Given the description of an element on the screen output the (x, y) to click on. 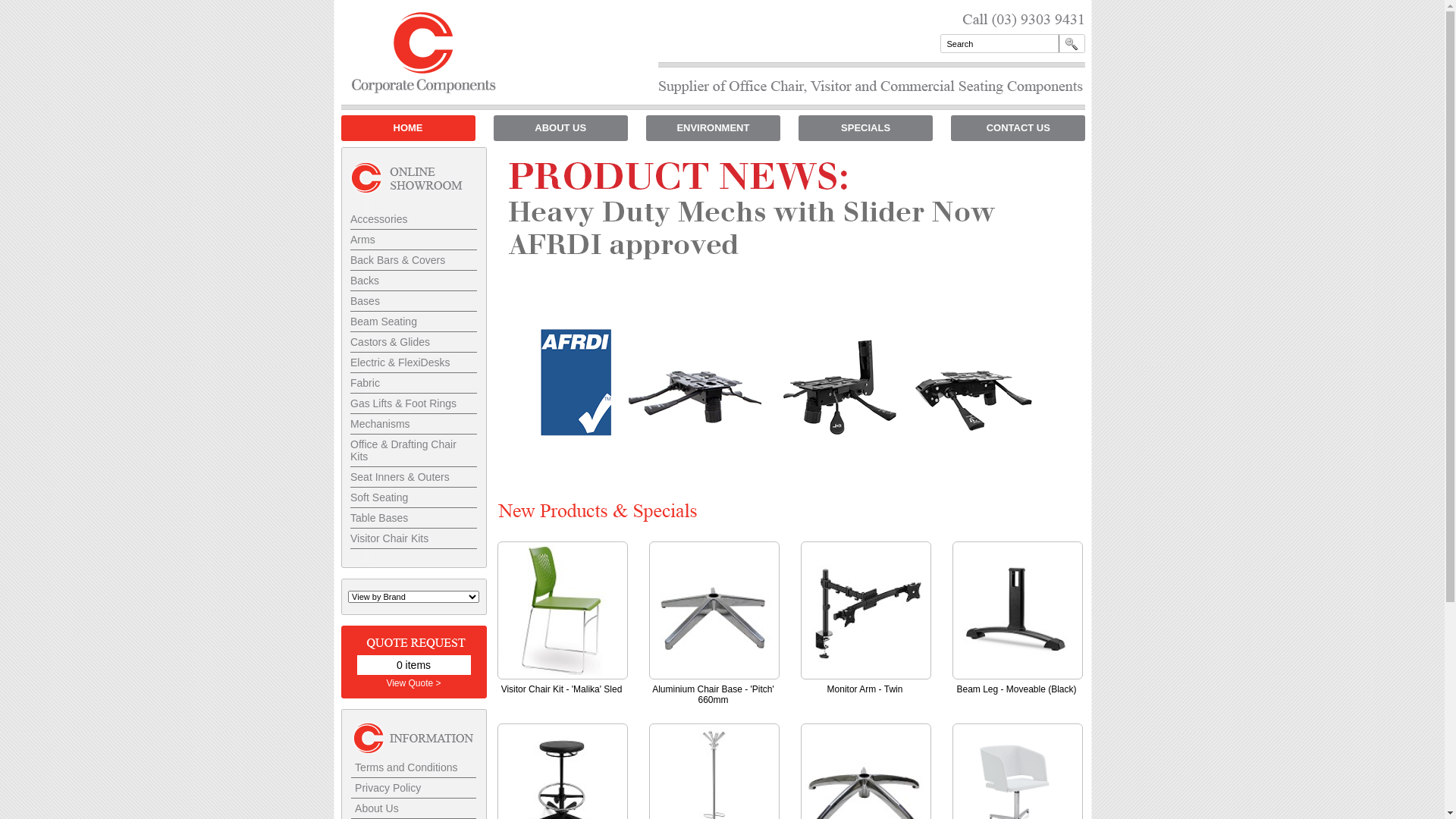
Aluminium Chair Base - 'Pitch' 660mm Element type: text (713, 694)
Monitor Arm - Twin Element type: text (865, 689)
Back Bars & Covers Element type: text (413, 260)
CONTACT US Element type: text (1017, 128)
SPECIALS Element type: text (865, 128)
Fabric Element type: text (413, 383)
Soft Seating Element type: text (413, 497)
Visitor Chair Kits Element type: text (413, 538)
Beam Seating Element type: text (413, 321)
Backs Element type: text (413, 280)
 Aluminium Chair Base - 'Pitch' 660mm  Element type: hover (713, 610)
Arms Element type: text (413, 239)
Electric & FlexiDesks Element type: text (413, 362)
 Beam Leg - Moveable (Black)  Element type: hover (1016, 610)
View Quote > Element type: text (412, 682)
Visitor Chair Kit - 'Malika' Sled Element type: text (561, 689)
Office & Drafting Chair Kits Element type: text (413, 450)
ENVIRONMENT Element type: text (713, 128)
Terms and Conditions Element type: text (413, 767)
 Monitor Arm - Twin  Element type: hover (864, 610)
Privacy Policy Element type: text (413, 788)
Table Bases Element type: text (413, 518)
ABOUT US Element type: text (560, 128)
Bases Element type: text (413, 301)
Accessories Element type: text (413, 219)
HEAVY DUTY MECHS NOW AFRDI APPROVED Element type: hover (781, 317)
Castors & Glides Element type: text (413, 342)
Beam Leg - Moveable (Black) Element type: text (1016, 689)
Gas Lifts & Foot Rings Element type: text (413, 403)
Seat Inners & Outers Element type: text (413, 477)
HOME Element type: text (408, 128)
Mechanisms Element type: text (413, 424)
 Visitor Chair Kit - 'Malika' Sled  Element type: hover (561, 610)
